Given the description of an element on the screen output the (x, y) to click on. 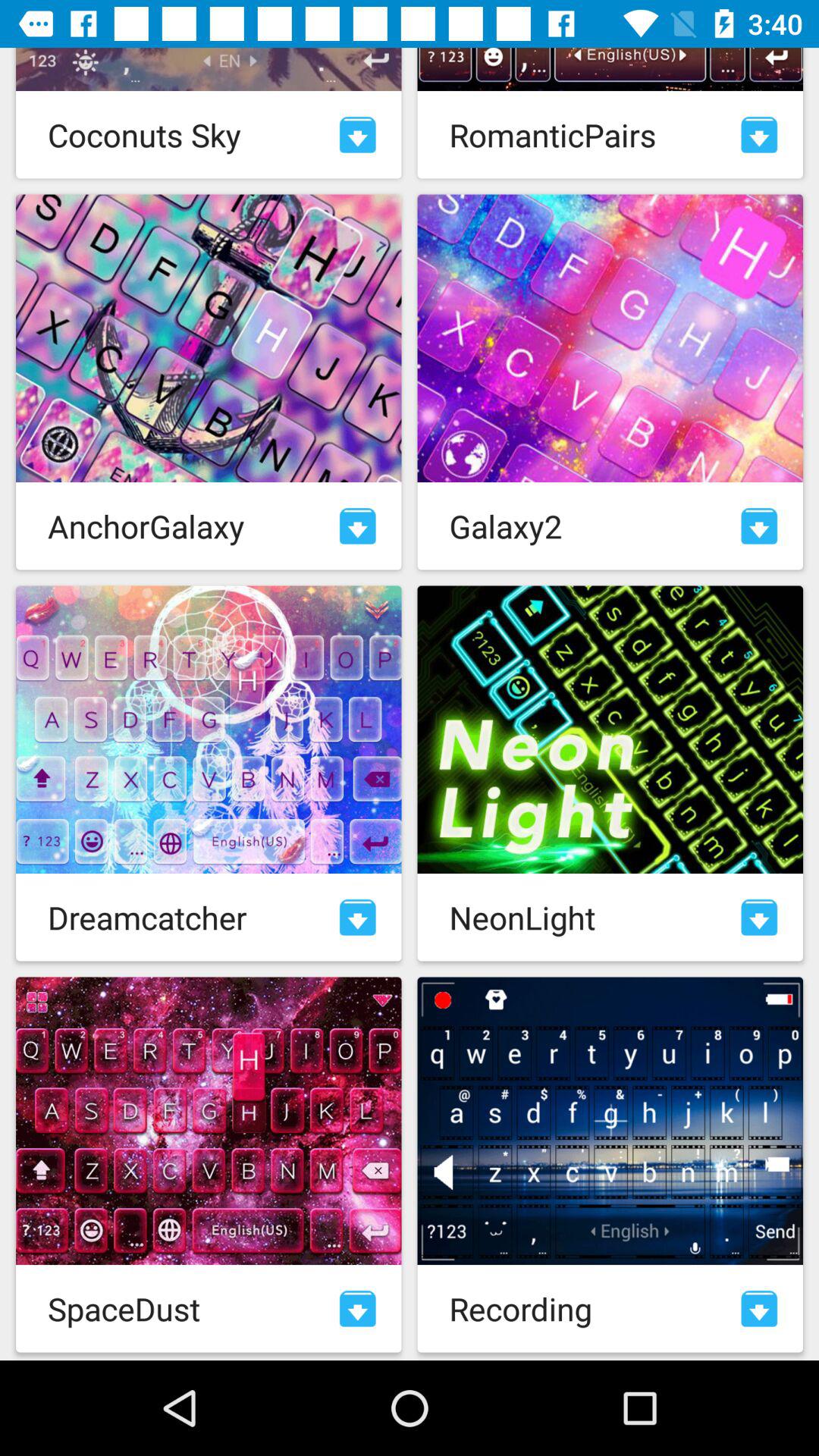
download (357, 1308)
